Given the description of an element on the screen output the (x, y) to click on. 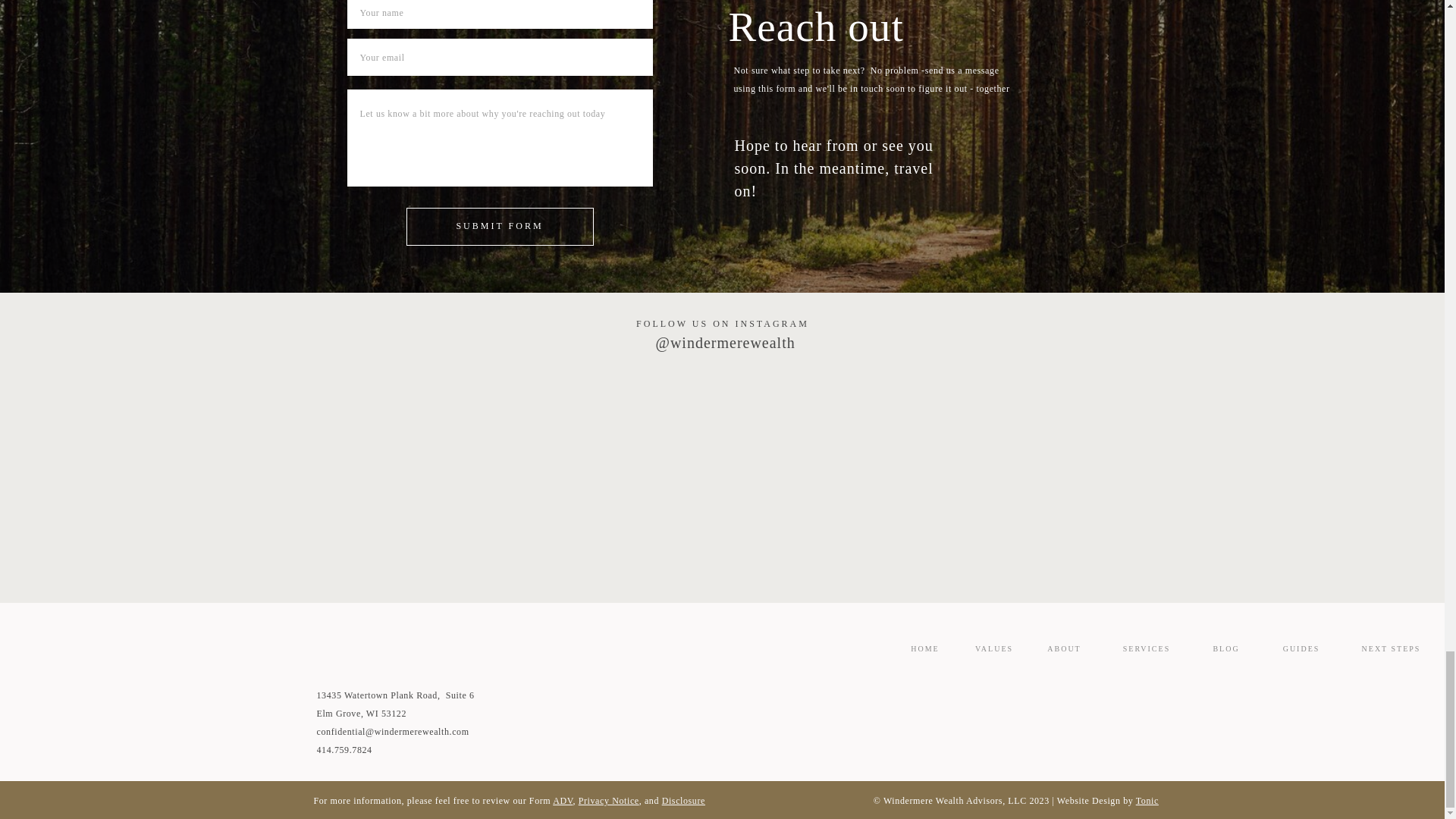
Disclosure (683, 800)
SUBMIT FORM (499, 227)
ADV (562, 800)
SERVICES (1146, 649)
NEXT STEPS (1390, 649)
VALUES (993, 649)
Privacy Notice (608, 800)
Tonic (1146, 800)
BLOG (1226, 649)
ABOUT (1063, 649)
